Given the description of an element on the screen output the (x, y) to click on. 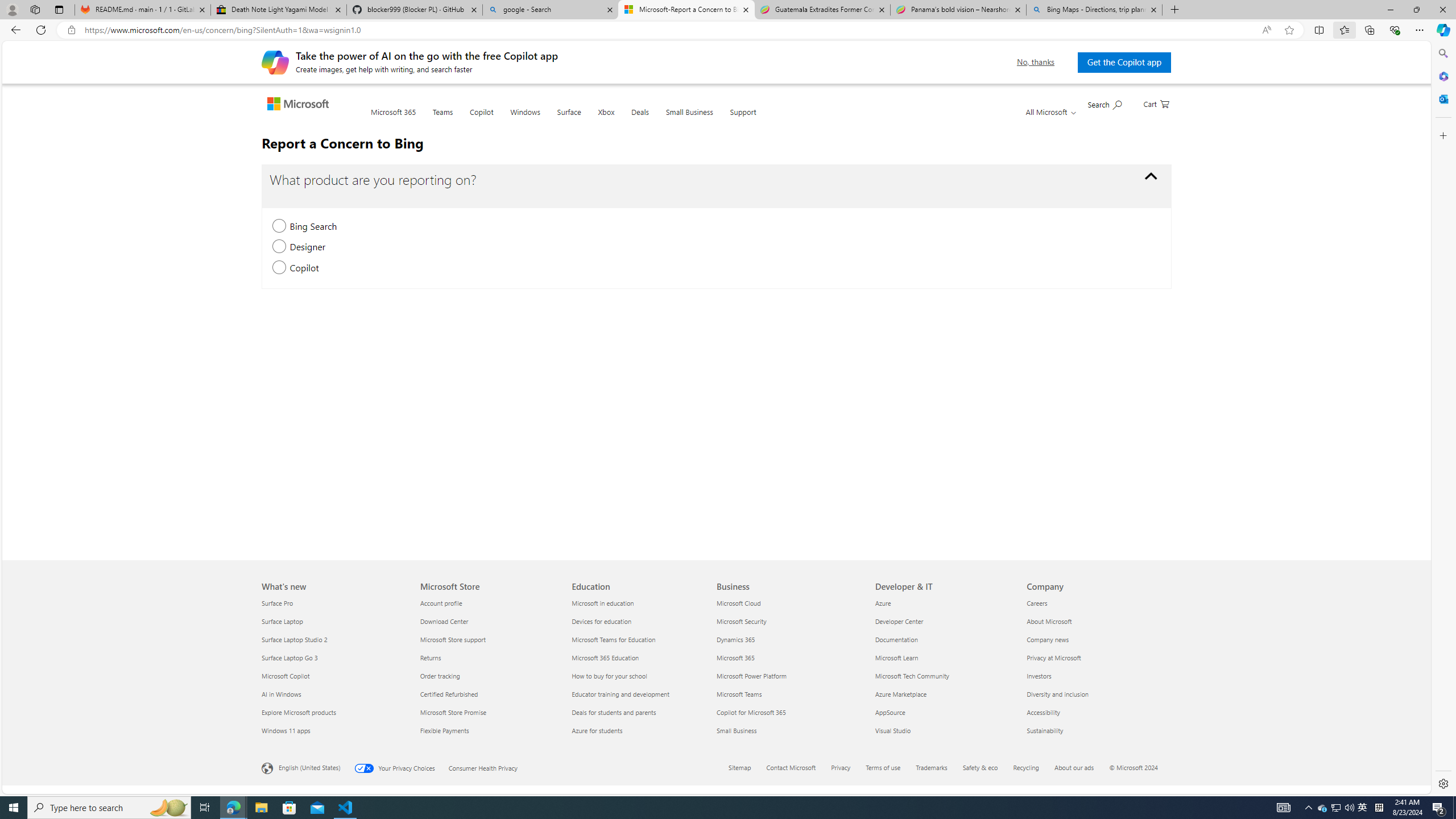
Create images, get help with writing, and search faster (275, 62)
Sustainability (1095, 730)
Surface Laptop What's new (282, 620)
Microsoft 365 (788, 657)
Careers Company (1037, 602)
Documentation (944, 638)
Privacy at Microsoft (1095, 657)
Your Privacy Choices Opt-Out Icon (365, 768)
Microsoft Store support Microsoft Store (452, 638)
Diversity and inclusion (1095, 693)
Terms of use (883, 766)
Account profile Microsoft Store (441, 602)
Microsoft Teams for Education (641, 638)
